Given the description of an element on the screen output the (x, y) to click on. 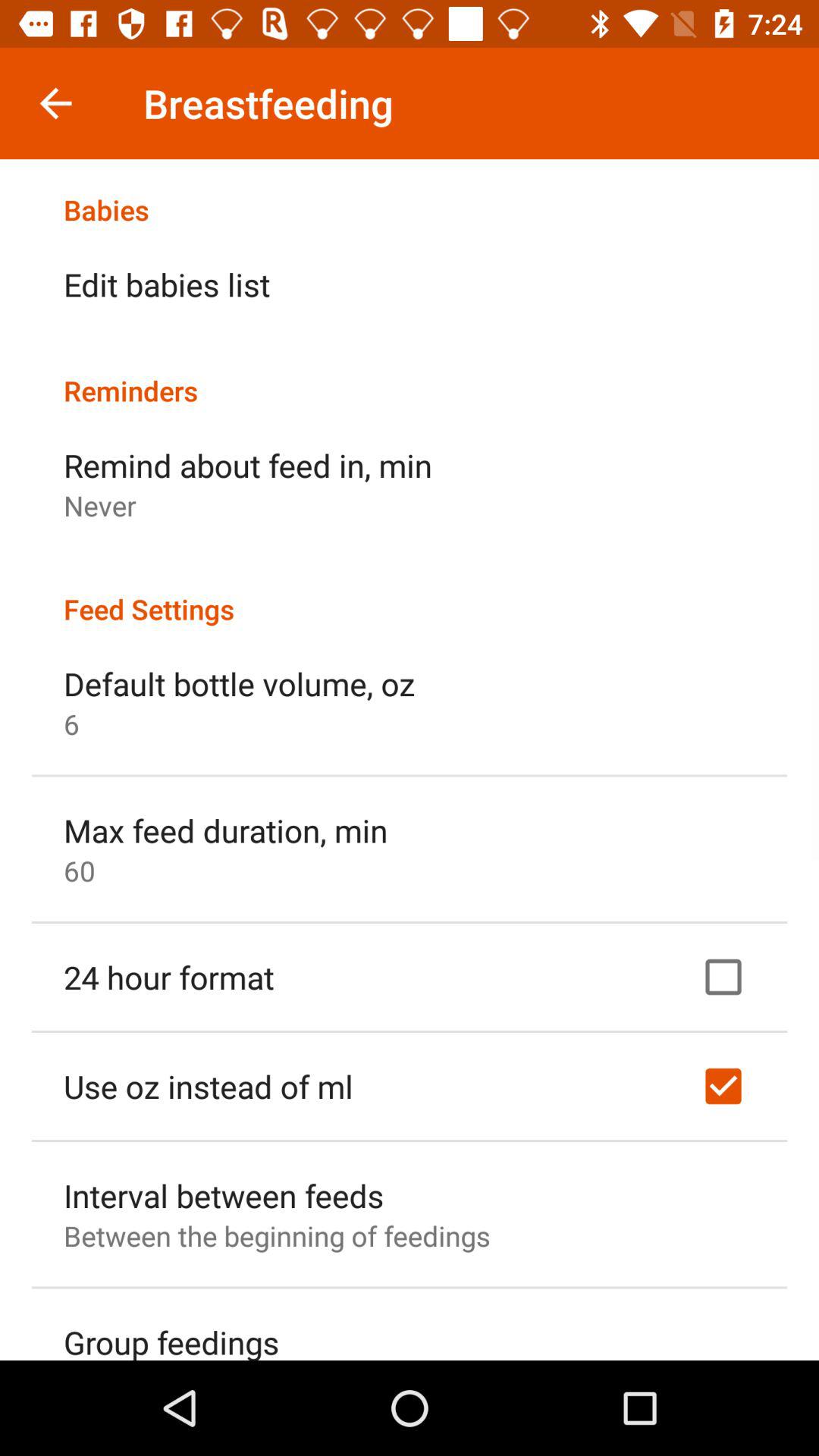
select the icon below reminders item (247, 464)
